Given the description of an element on the screen output the (x, y) to click on. 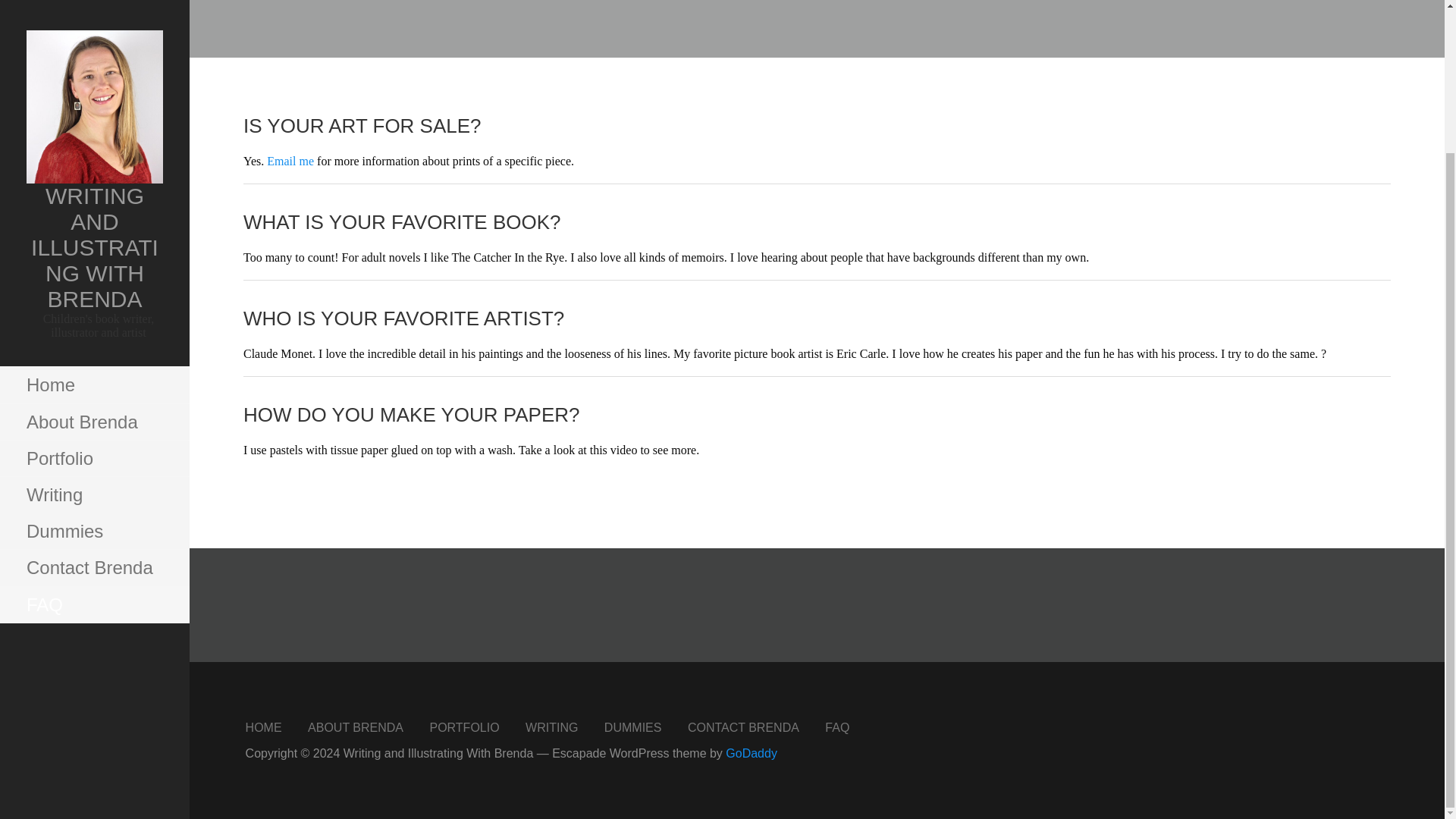
PORTFOLIO (464, 726)
Portfolio (94, 280)
CONTACT BRENDA (743, 726)
Home (94, 207)
Contact Brenda (94, 390)
FAQ (836, 726)
ABOUT BRENDA (355, 726)
Dummies (94, 353)
About Brenda (94, 244)
WRITING (551, 726)
Writing (94, 317)
HOME (264, 726)
DUMMIES (633, 726)
FAQ (94, 427)
Email me (290, 160)
